Given the description of an element on the screen output the (x, y) to click on. 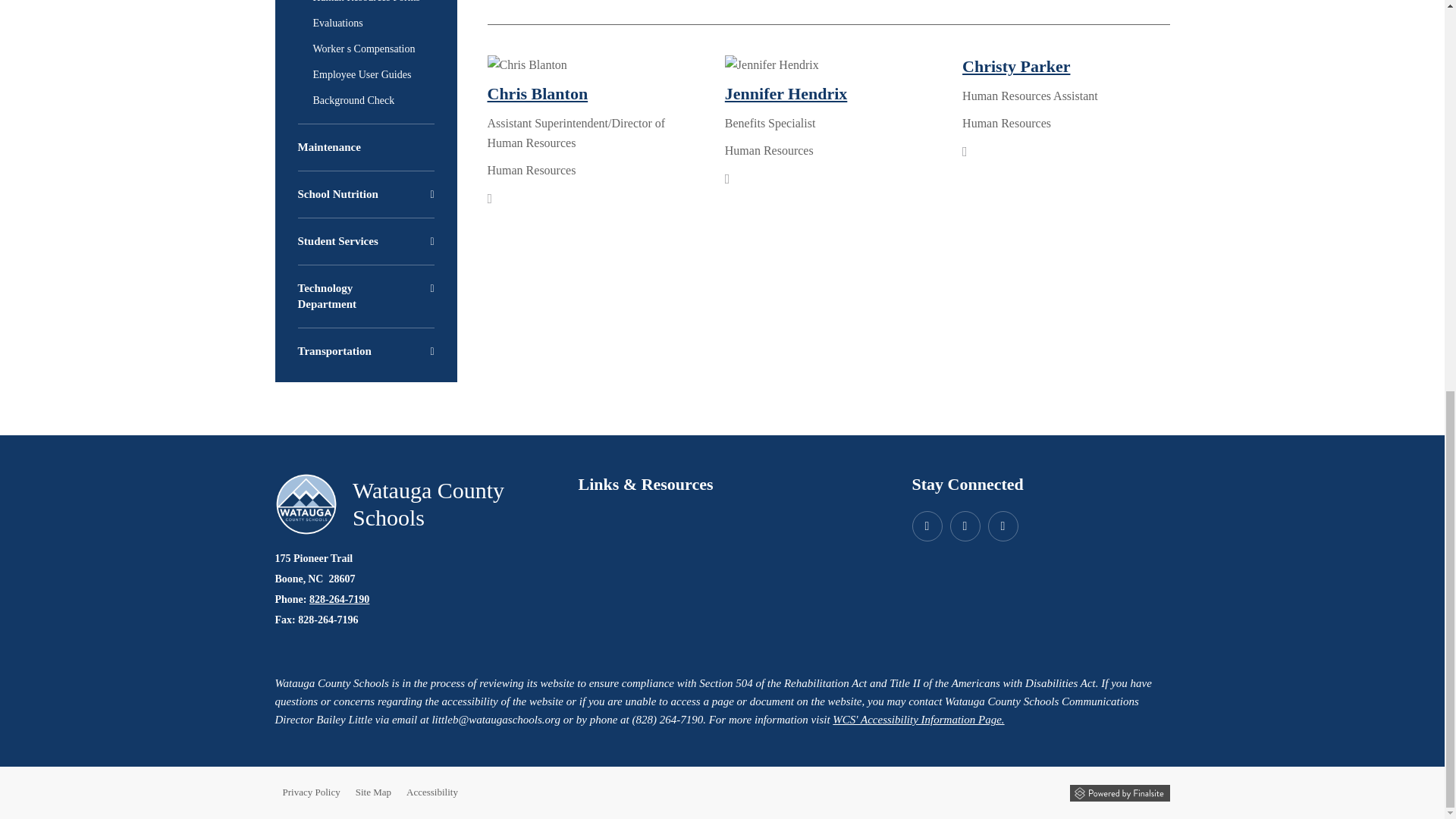
Powered by Finalsite opens in a new window (1118, 792)
